Given the description of an element on the screen output the (x, y) to click on. 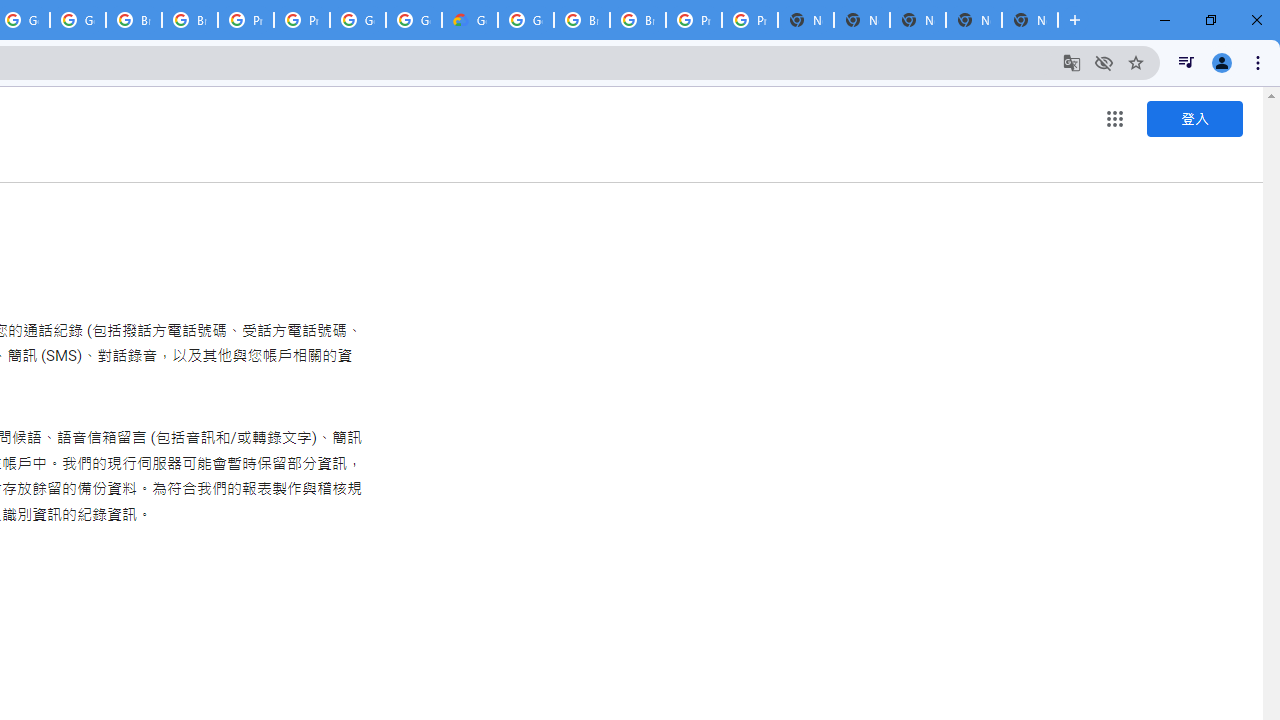
Browse Chrome as a guest - Computer - Google Chrome Help (134, 20)
Google Cloud Platform (413, 20)
Browse Chrome as a guest - Computer - Google Chrome Help (582, 20)
Google Cloud Platform (525, 20)
Google Cloud Estimate Summary (469, 20)
